Given the description of an element on the screen output the (x, y) to click on. 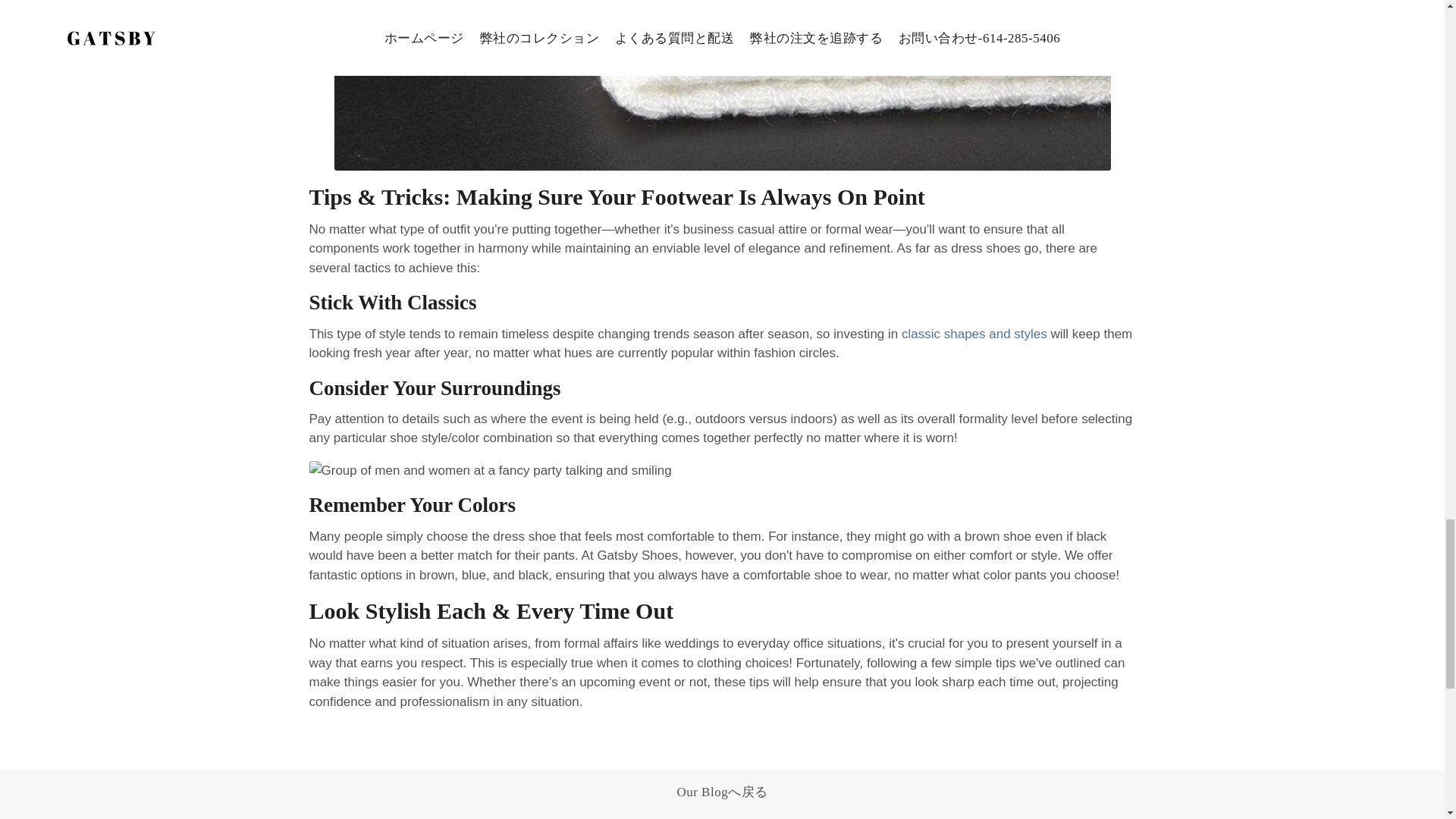
Classic Men's Dress Shoe Styles (973, 333)
classic shapes and styles (973, 333)
